Given the description of an element on the screen output the (x, y) to click on. 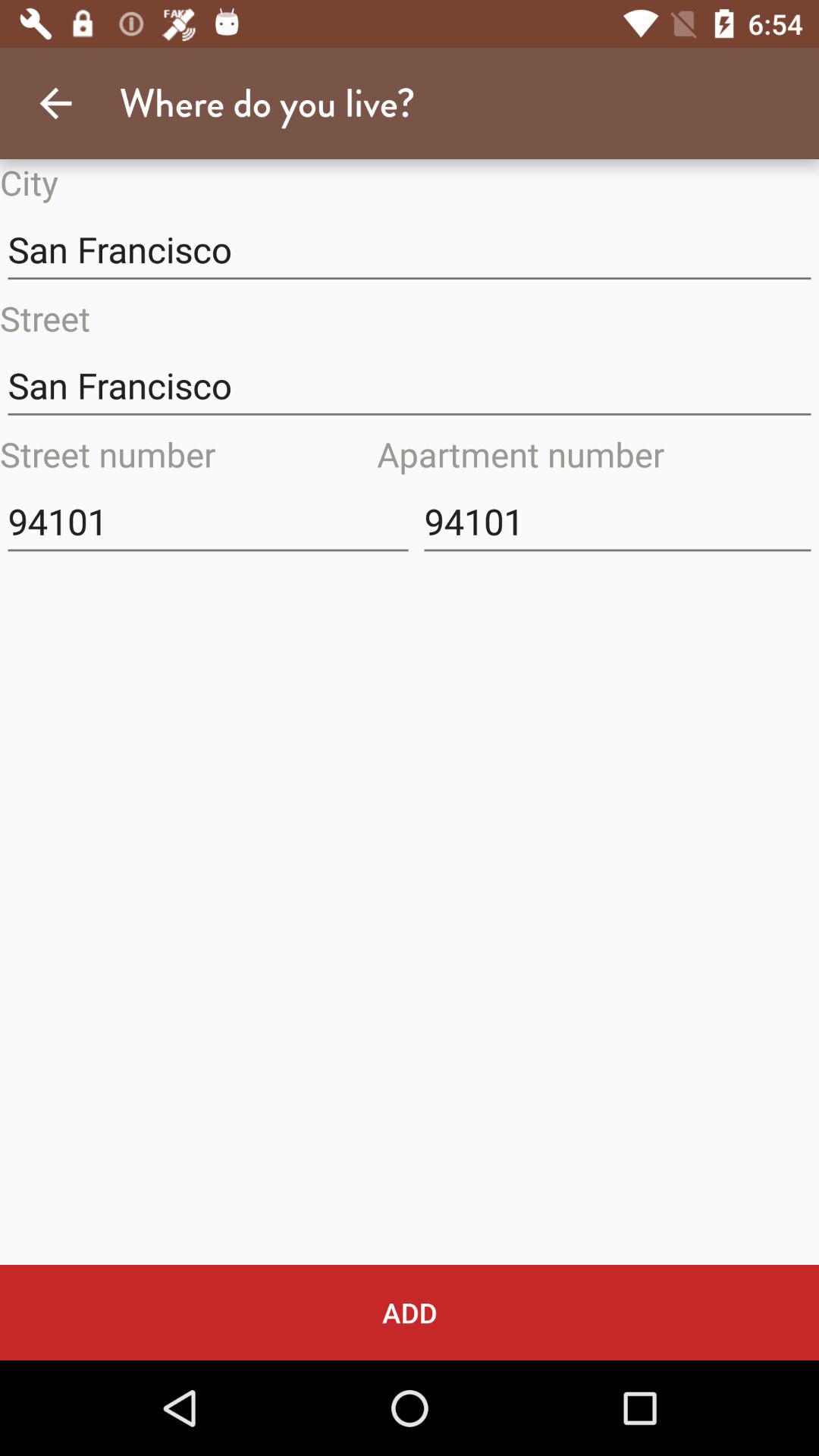
press the app to the left of where do you icon (55, 103)
